Given the description of an element on the screen output the (x, y) to click on. 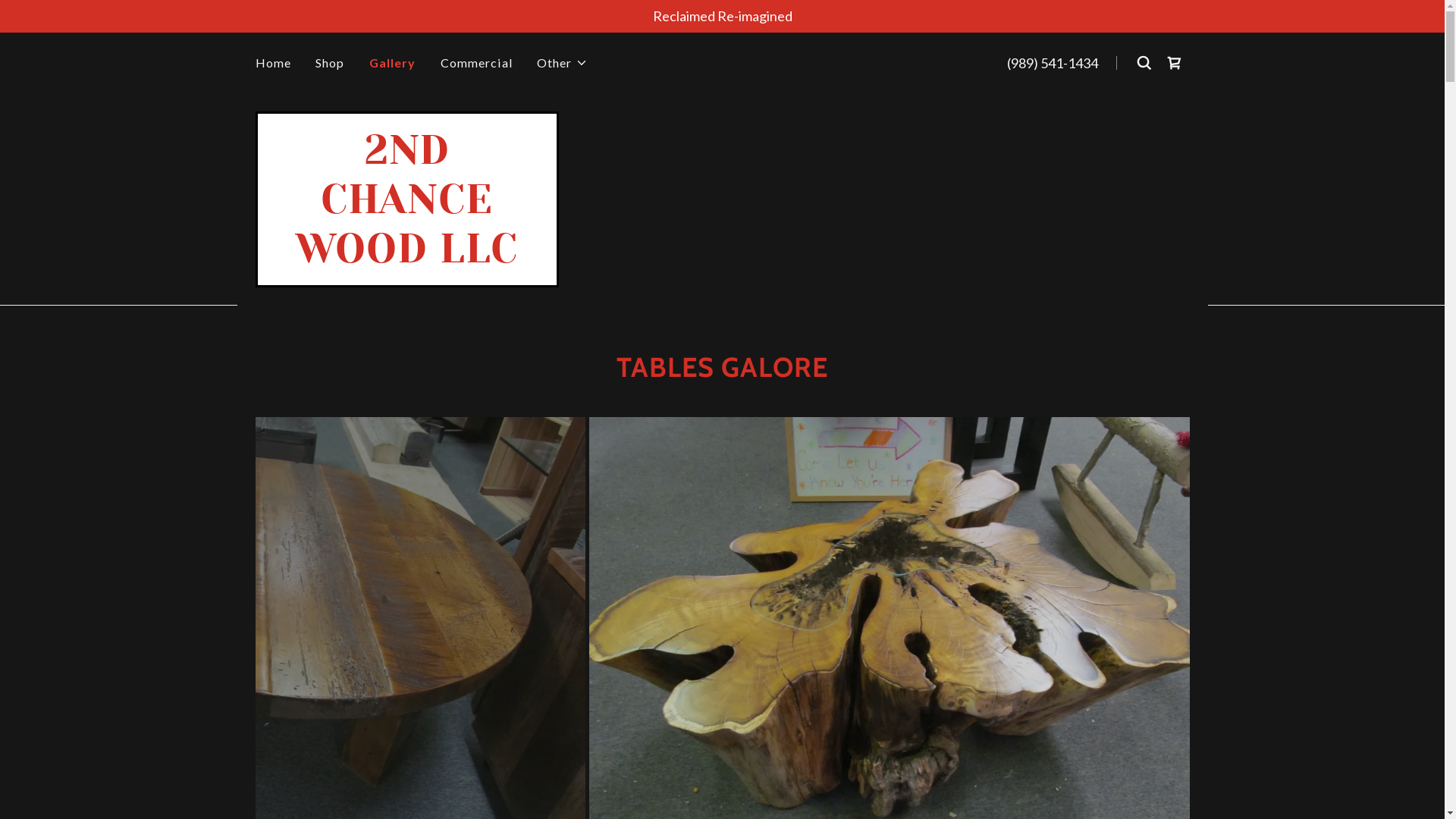
Gallery Element type: text (392, 62)
Shop Element type: text (329, 62)
Home Element type: text (272, 62)
Other Element type: text (561, 62)
(989) 541-1434 Element type: text (1052, 62)
2ND CHANCE WOOD LLC Element type: text (407, 256)
Commercial Element type: text (476, 62)
